Given the description of an element on the screen output the (x, y) to click on. 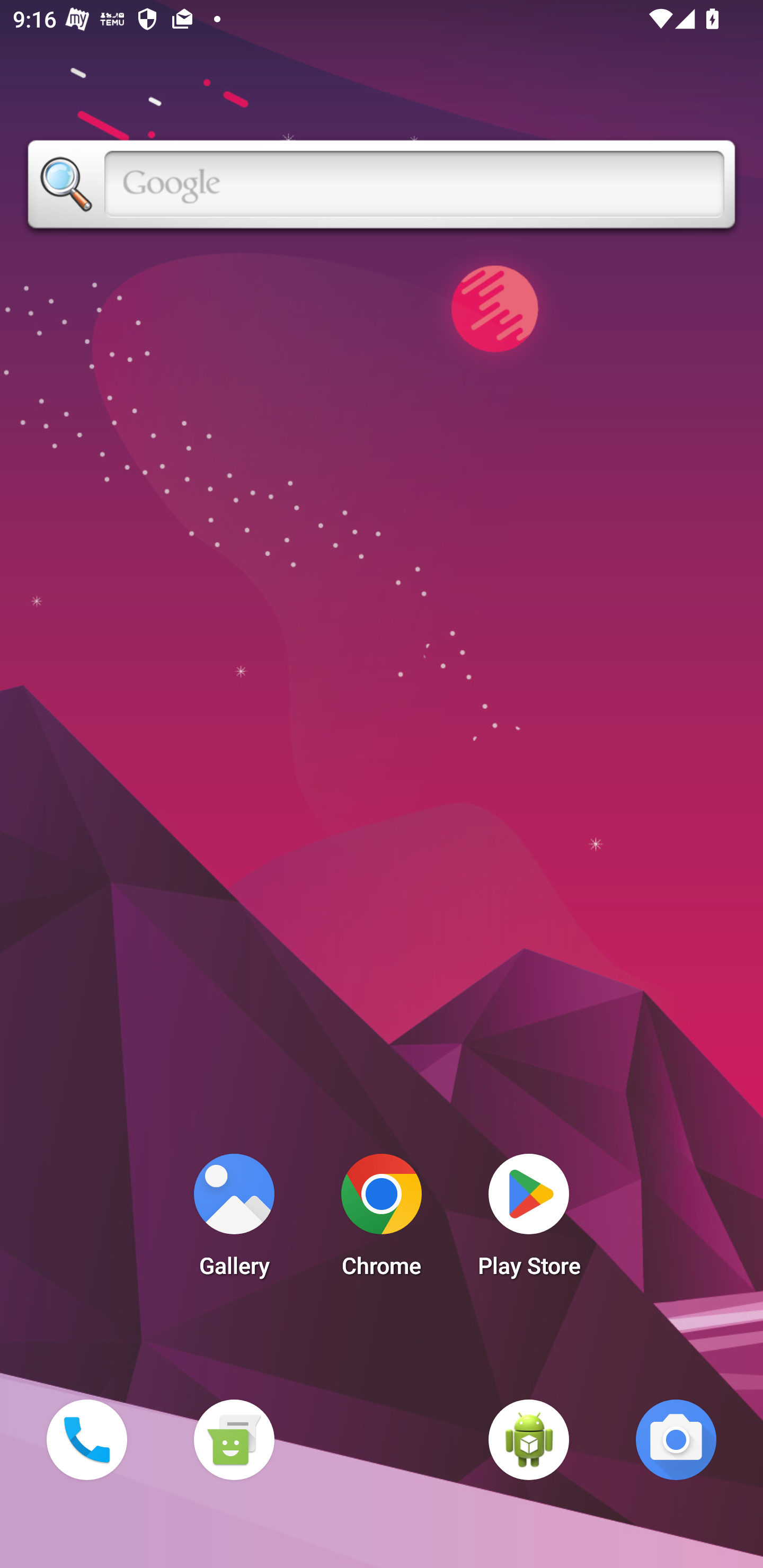
Gallery (233, 1220)
Chrome (381, 1220)
Play Store (528, 1220)
Phone (86, 1439)
Messaging (233, 1439)
WebView Browser Tester (528, 1439)
Camera (676, 1439)
